Given the description of an element on the screen output the (x, y) to click on. 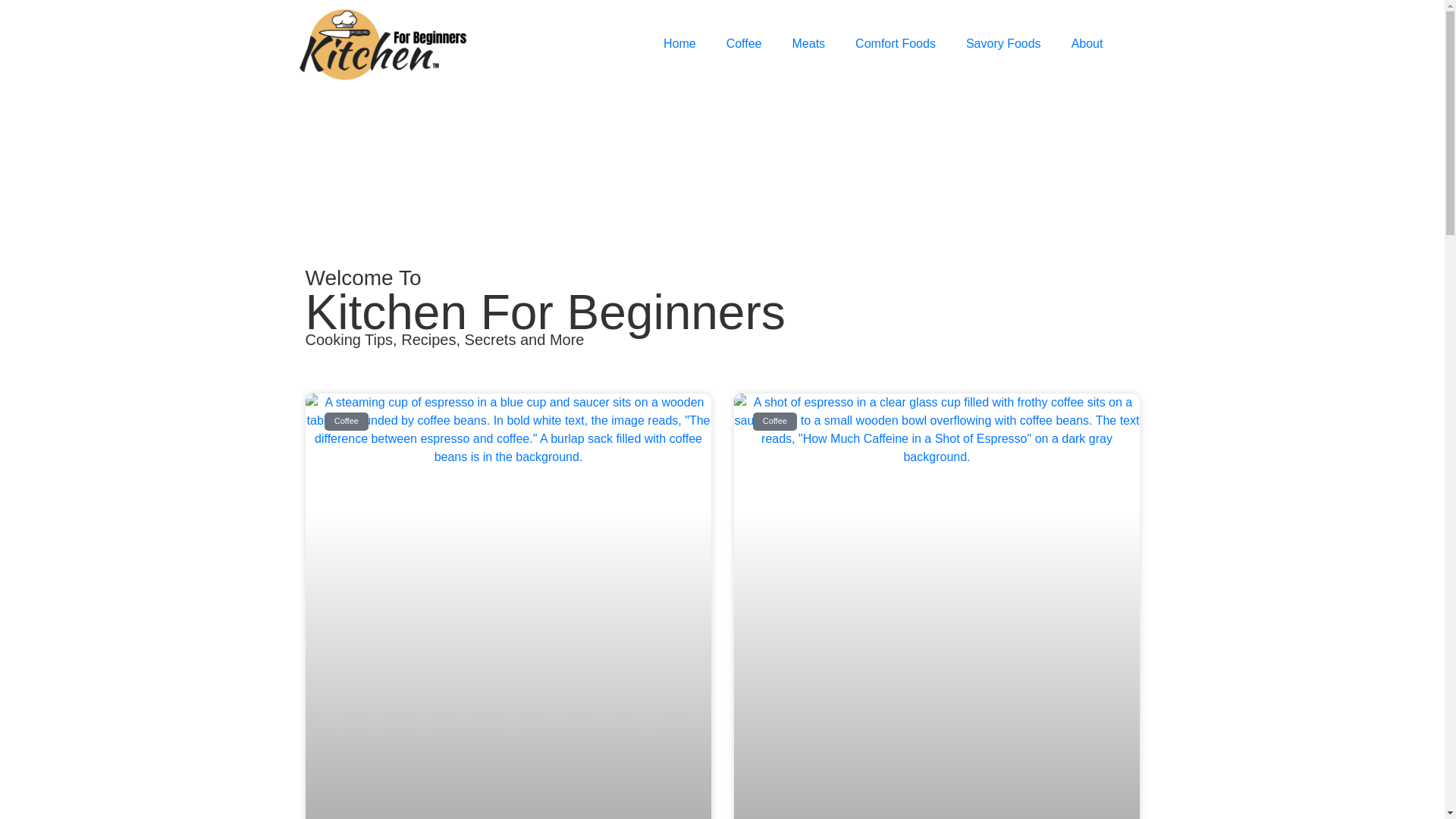
Home (679, 43)
Coffee (744, 43)
Meats (809, 43)
About (1087, 43)
Savory Foods (1003, 43)
Comfort Foods (895, 43)
